Given the description of an element on the screen output the (x, y) to click on. 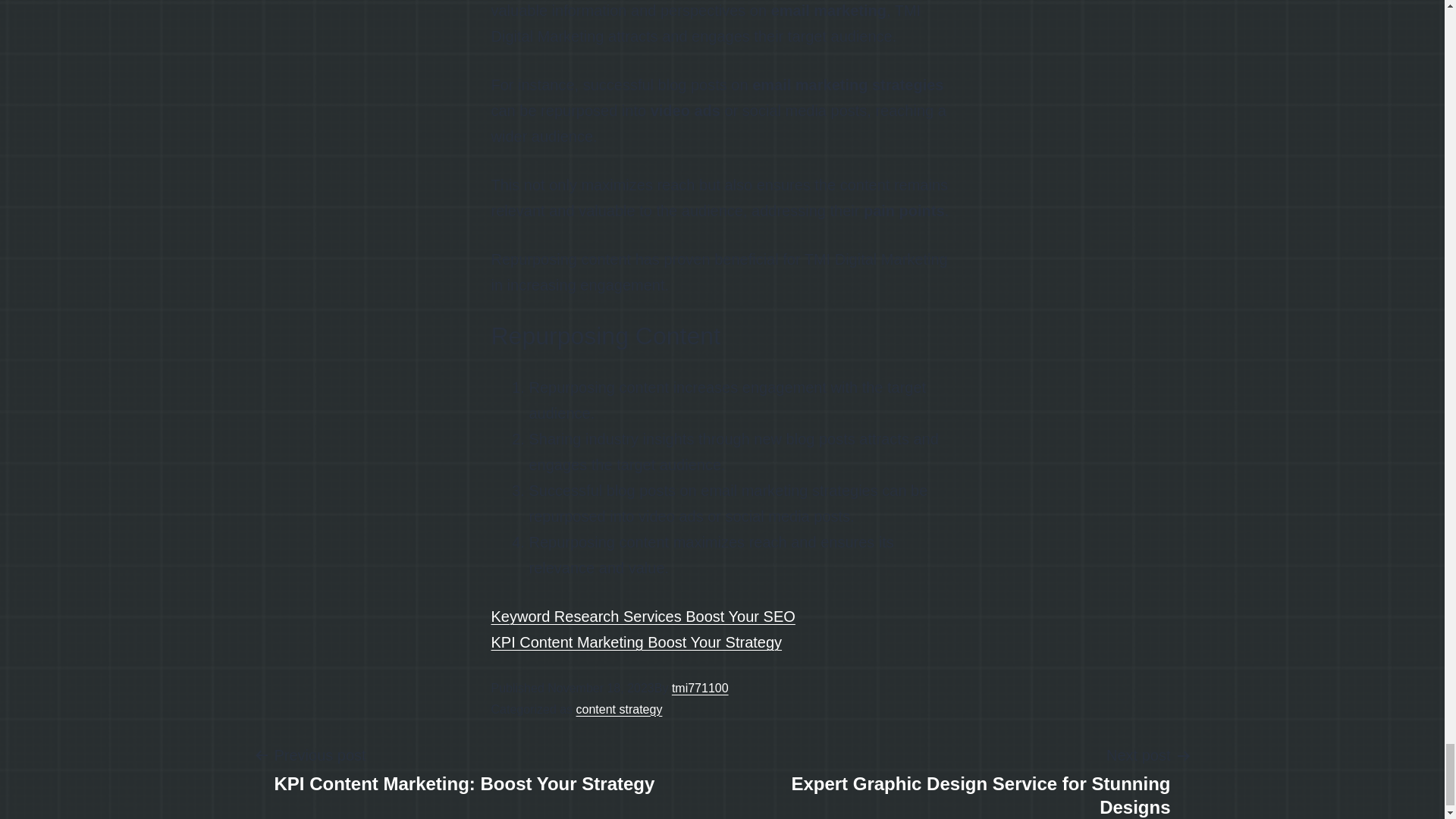
content strategy (619, 708)
Keyword Research Services Boost Your SEO (464, 768)
tmi771100 (643, 616)
KPI Content Marketing Boost Your Strategy (700, 687)
